Given the description of an element on the screen output the (x, y) to click on. 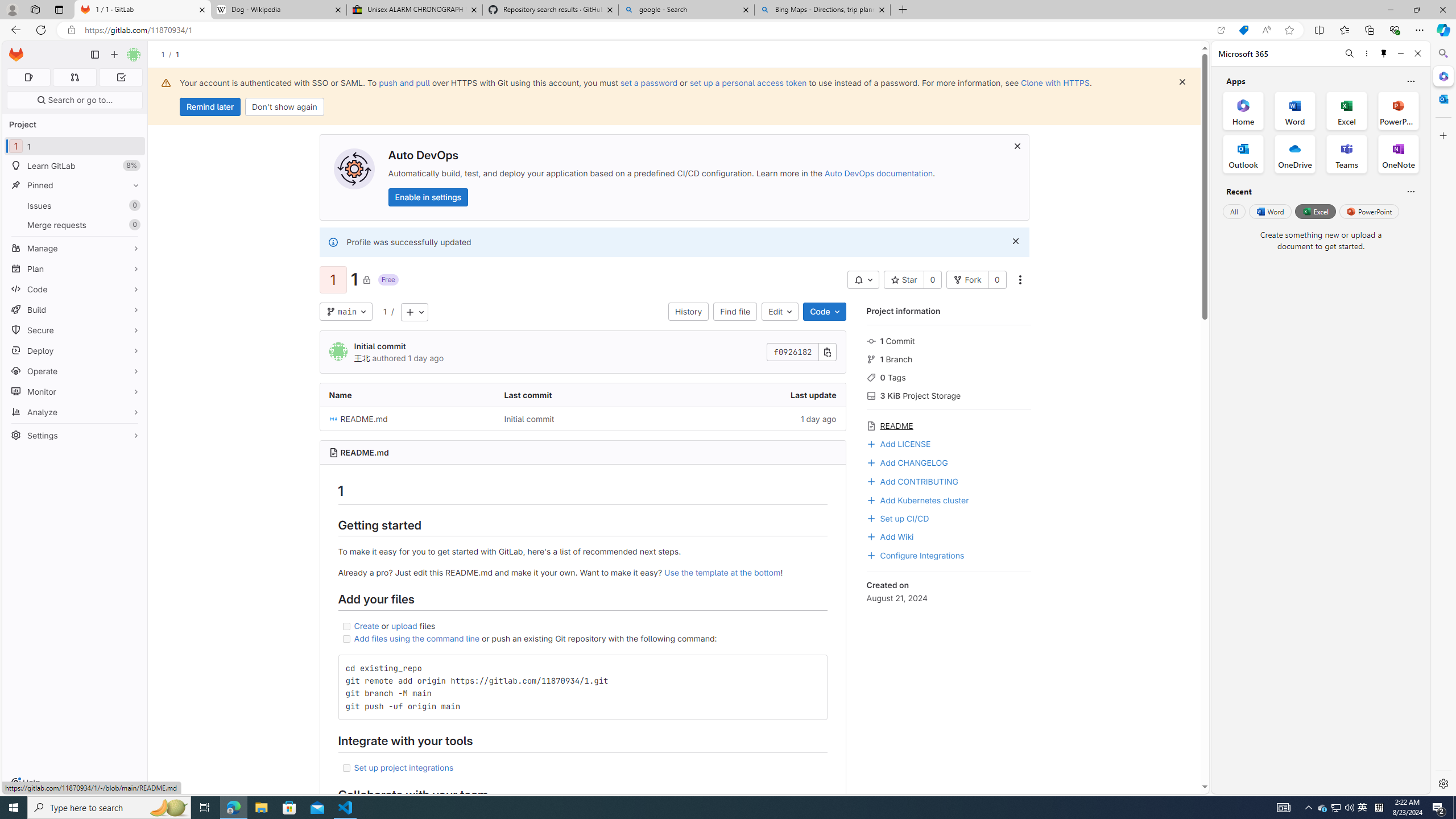
Excel Office App (1346, 110)
Don't show again (284, 106)
Secure (74, 330)
Code (74, 289)
Clone with HTTPS (1054, 82)
Word (1269, 210)
Merge requests0 (74, 224)
set a password (649, 82)
Add Kubernetes cluster (917, 498)
Class: s16 icon (366, 279)
Set up CI/CD (948, 517)
Unpin Merge requests (132, 224)
